Given the description of an element on the screen output the (x, y) to click on. 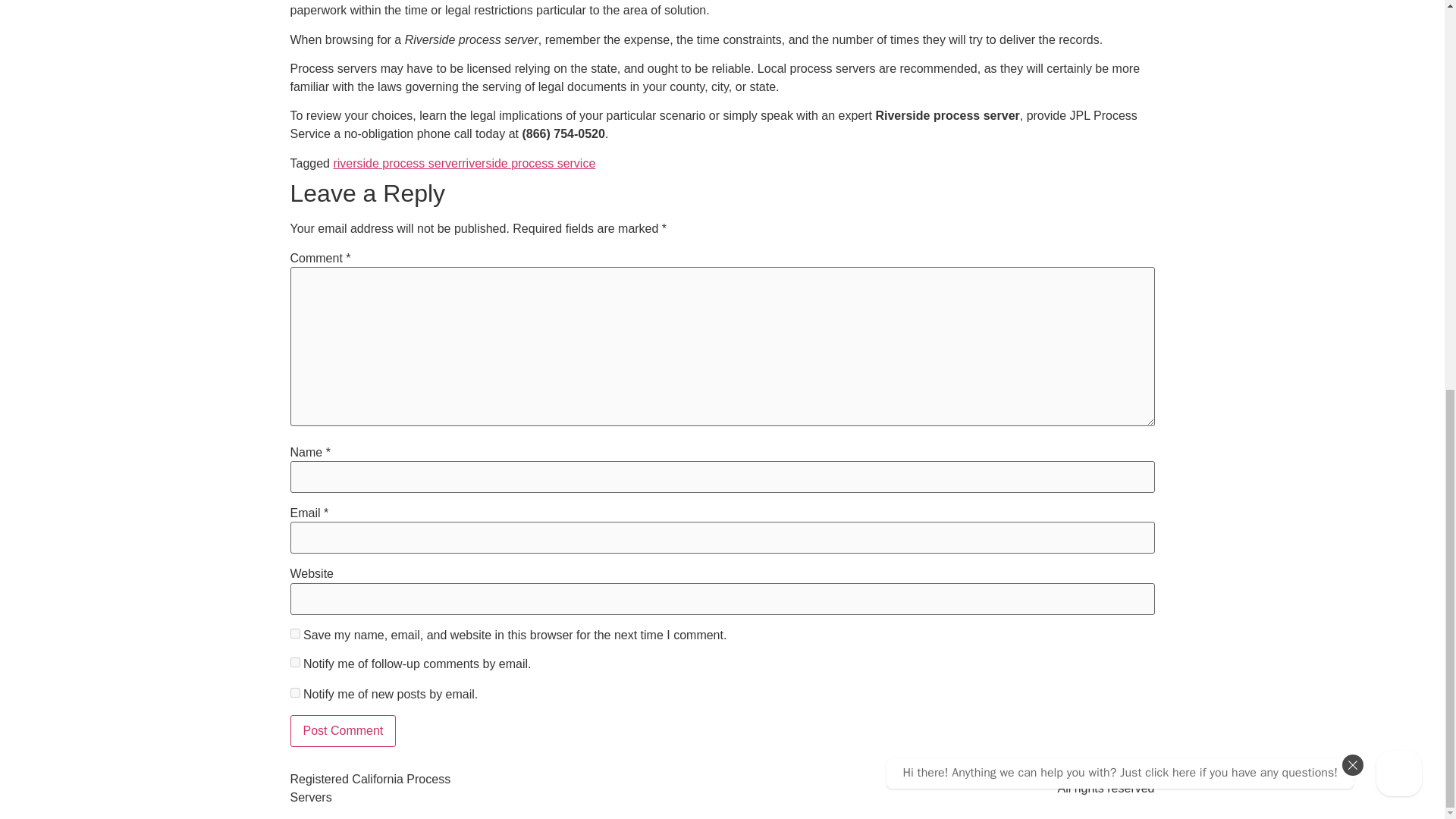
yes (294, 633)
riverside process server (397, 163)
Post Comment (342, 730)
riverside process service (528, 163)
Post Comment (342, 730)
subscribe (294, 692)
subscribe (294, 662)
